Given the description of an element on the screen output the (x, y) to click on. 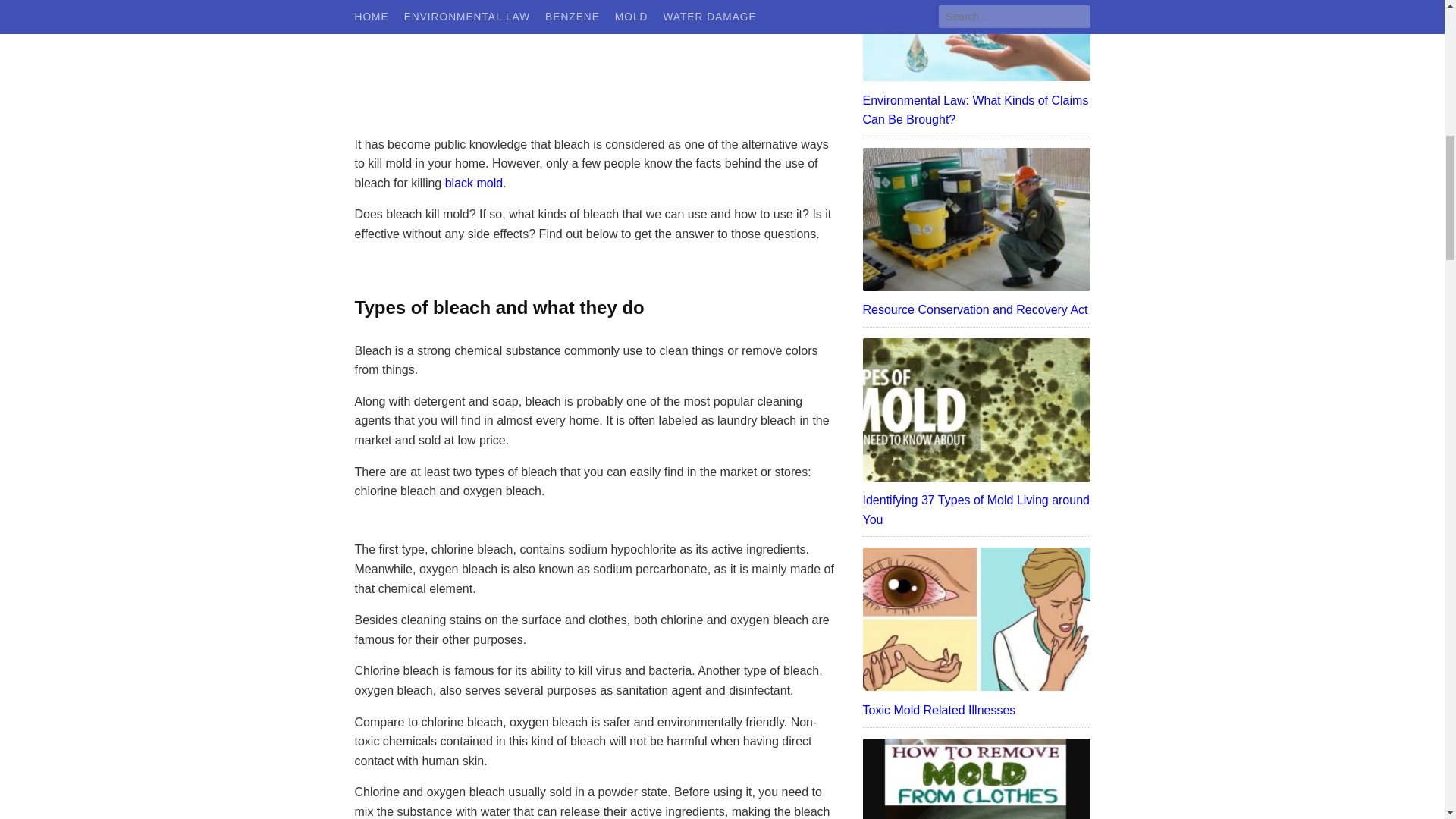
Resource Conservation and Recovery Act (976, 310)
Advertisement (597, 63)
Toxic Mold Related Illnesses (976, 710)
Environmental Law: What Kinds of Claims Can Be Brought? (976, 109)
Identifying 37 Types of Mold Living around You (976, 509)
black mold (473, 182)
